Given the description of an element on the screen output the (x, y) to click on. 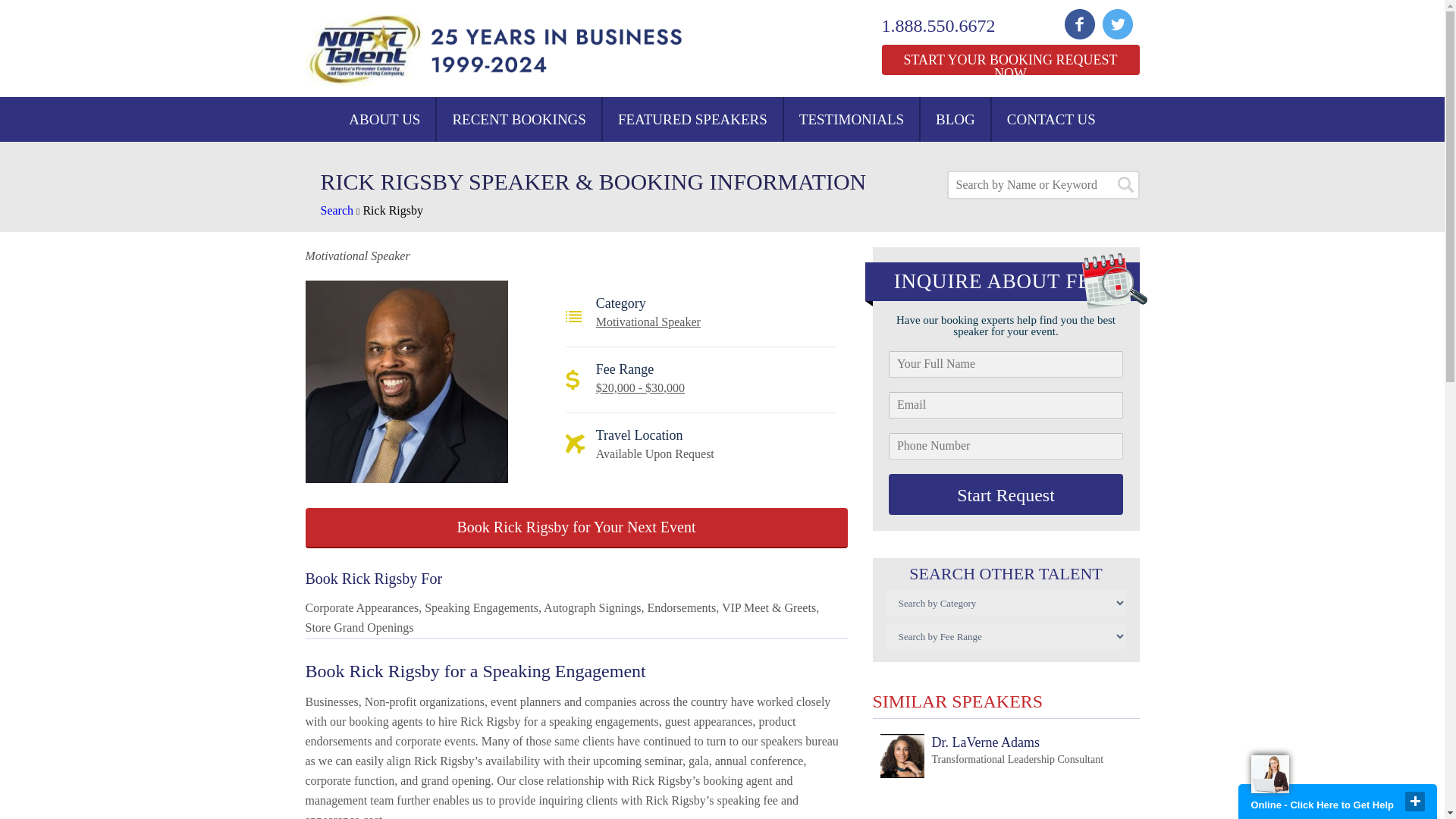
CONTACT US (1050, 119)
Motivational Speaker (647, 321)
RECENT BOOKINGS (517, 119)
Rick Rigsby (392, 210)
ABOUT US (384, 119)
Book Rick Rigsby for Your Next Event (575, 527)
TESTIMONIALS (851, 119)
FEATURED SPEAKERS (991, 756)
Search (692, 119)
Start Request (336, 210)
START YOUR BOOKING REQUEST NOW (1006, 494)
1.888.550.6672 (1009, 60)
BLOG (947, 25)
